Given the description of an element on the screen output the (x, y) to click on. 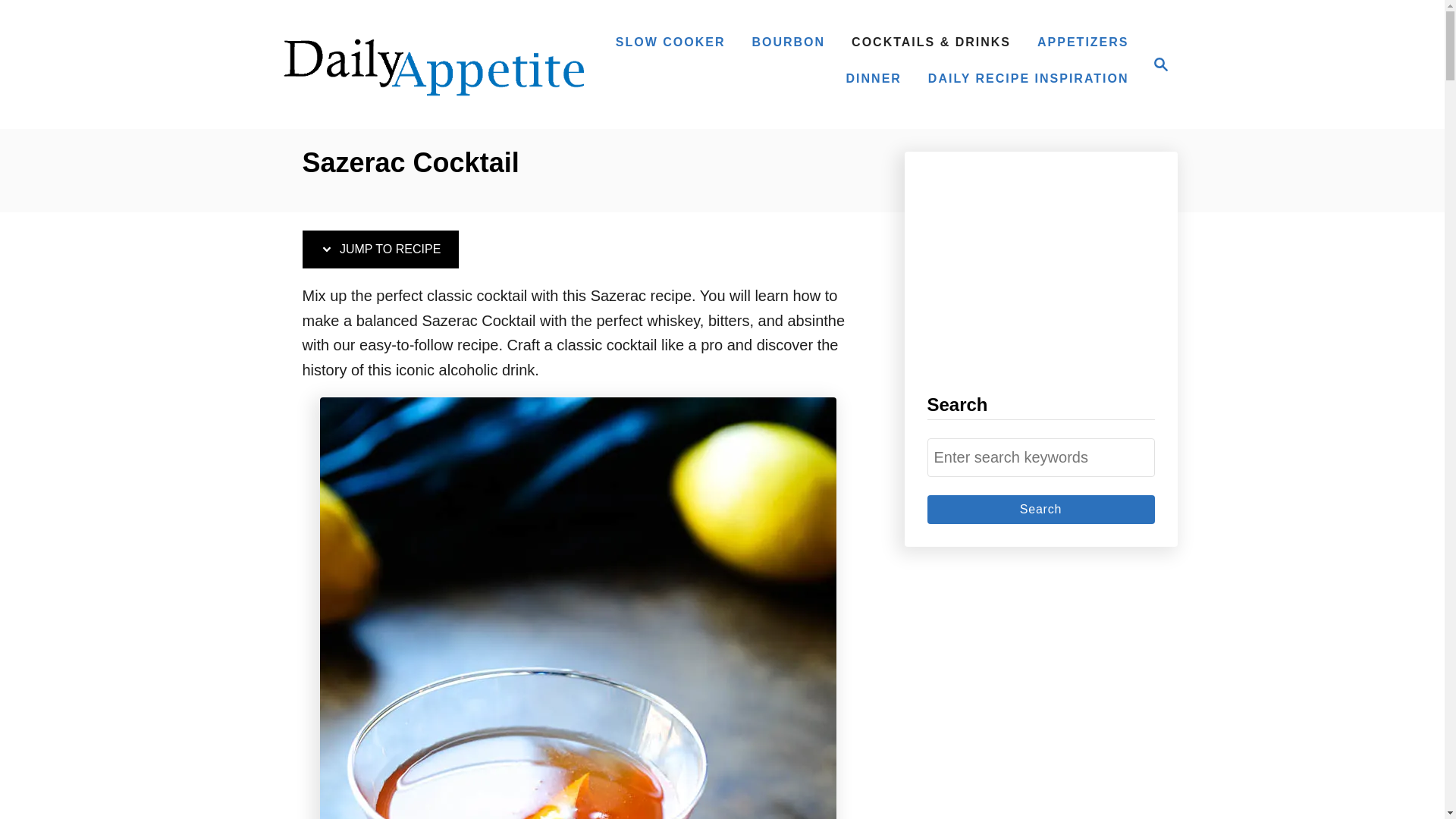
DAILY RECIPE INSPIRATION (1028, 78)
Magnifying Glass (1160, 64)
DINNER (1155, 64)
BOURBON (873, 78)
Search for: (788, 41)
Sazerac Cocktail 1 (1040, 457)
Daily Appetite (1040, 508)
JUMP TO RECIPE (433, 64)
Search (379, 249)
Search (1040, 508)
APPETIZERS (1040, 508)
SLOW COOKER (1082, 41)
